Given the description of an element on the screen output the (x, y) to click on. 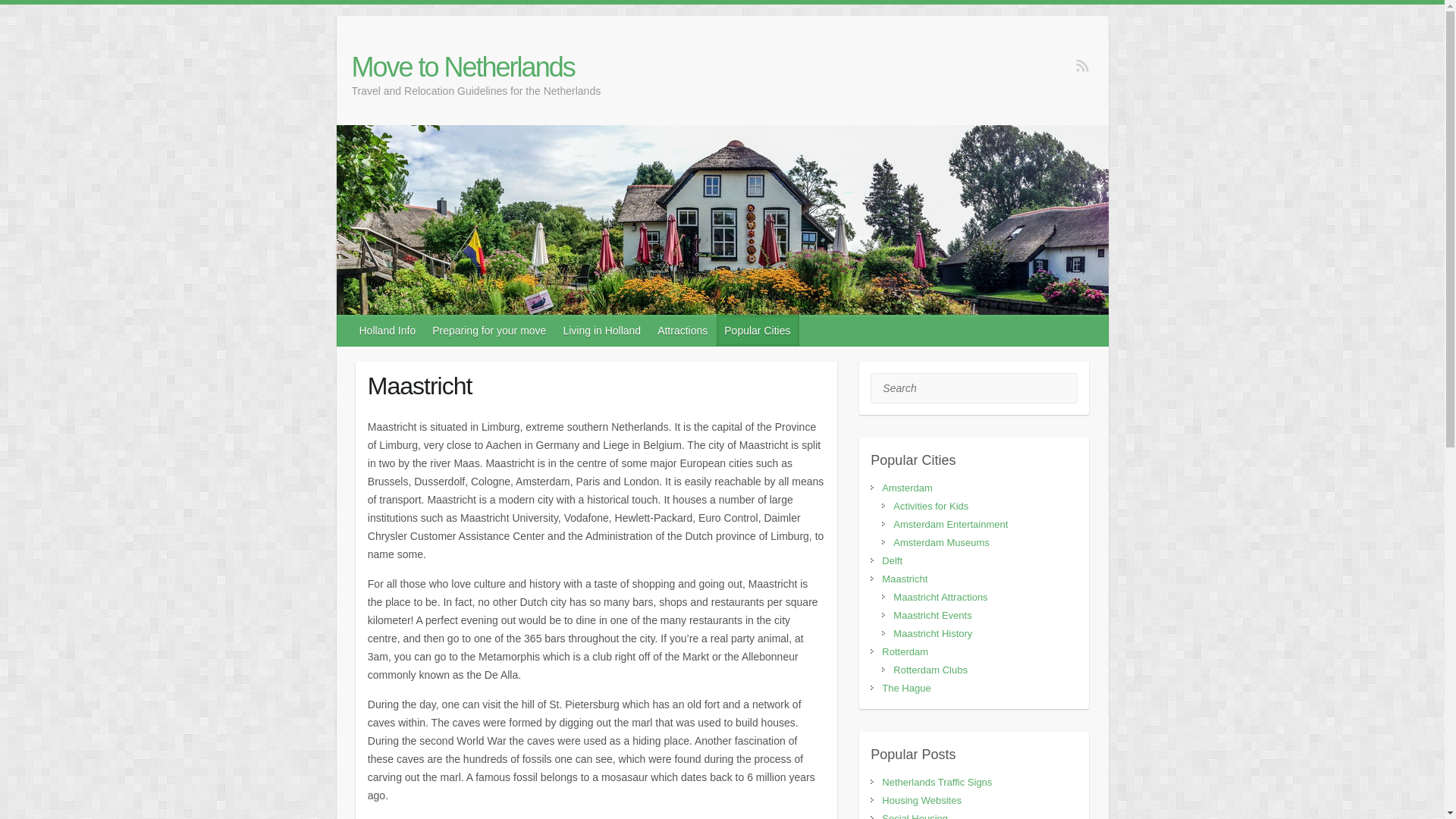
Amsterdam Entertainment (950, 523)
Rotterdam Clubs (930, 669)
Amsterdam (906, 487)
Maastricht Events (932, 614)
The Hague (906, 687)
Move to Netherlands on RSS (1082, 65)
Popular Cities (912, 459)
Maastricht History (932, 633)
Living in Holland (601, 330)
Move to Netherlands (476, 67)
